Given the description of an element on the screen output the (x, y) to click on. 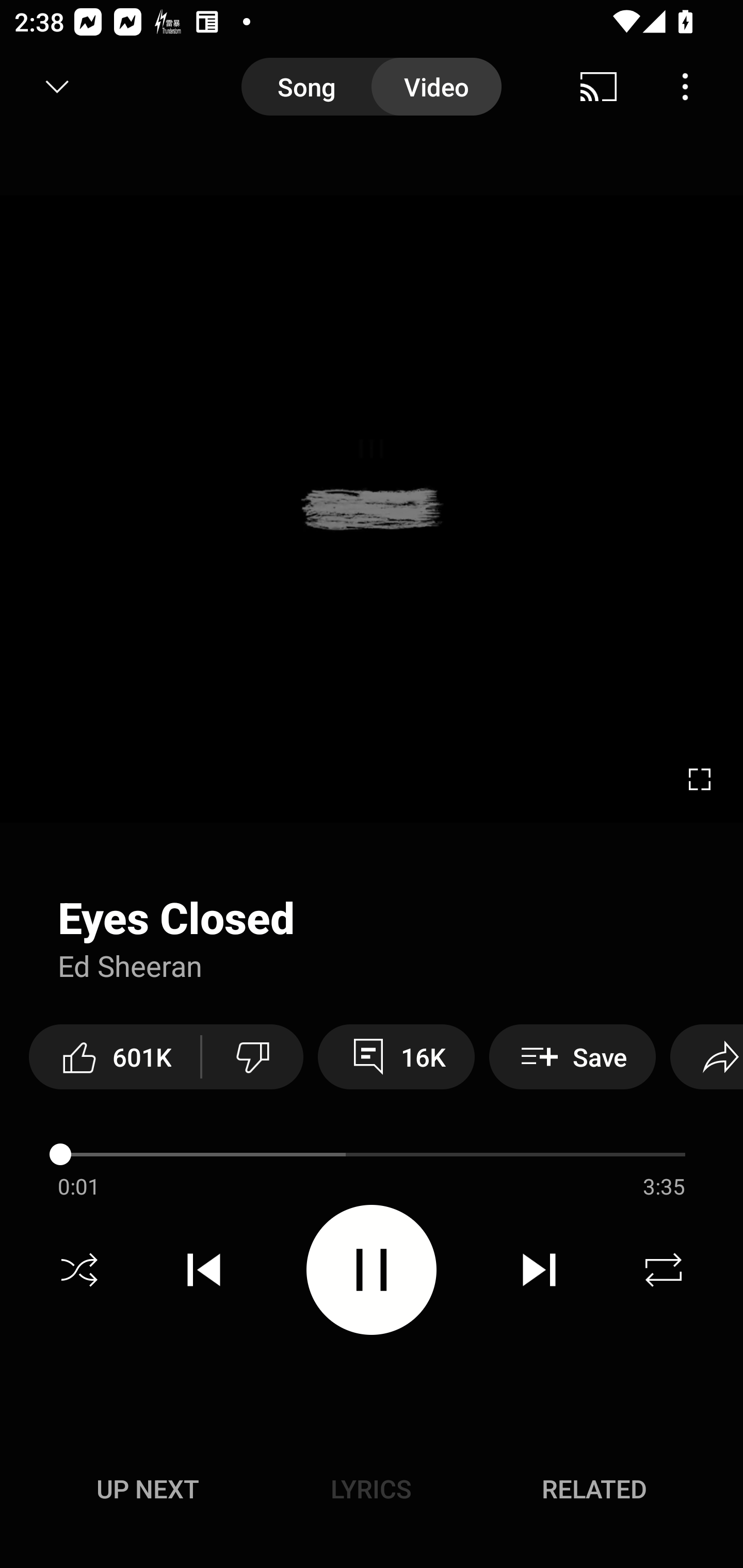
Minimize (57, 86)
Cast. Disconnected (598, 86)
Menu (684, 86)
Enter fullscreen (699, 779)
Dislike (252, 1056)
16K View 16,576 comments (396, 1056)
Save Save to playlist (572, 1056)
Share (706, 1056)
Pause video (371, 1269)
Shuffle off (79, 1269)
Previous track (203, 1269)
Next track (538, 1269)
Repeat off (663, 1269)
Up next UP NEXT Lyrics LYRICS Related RELATED (371, 1491)
Lyrics LYRICS (370, 1488)
Related RELATED (594, 1488)
